Given the description of an element on the screen output the (x, y) to click on. 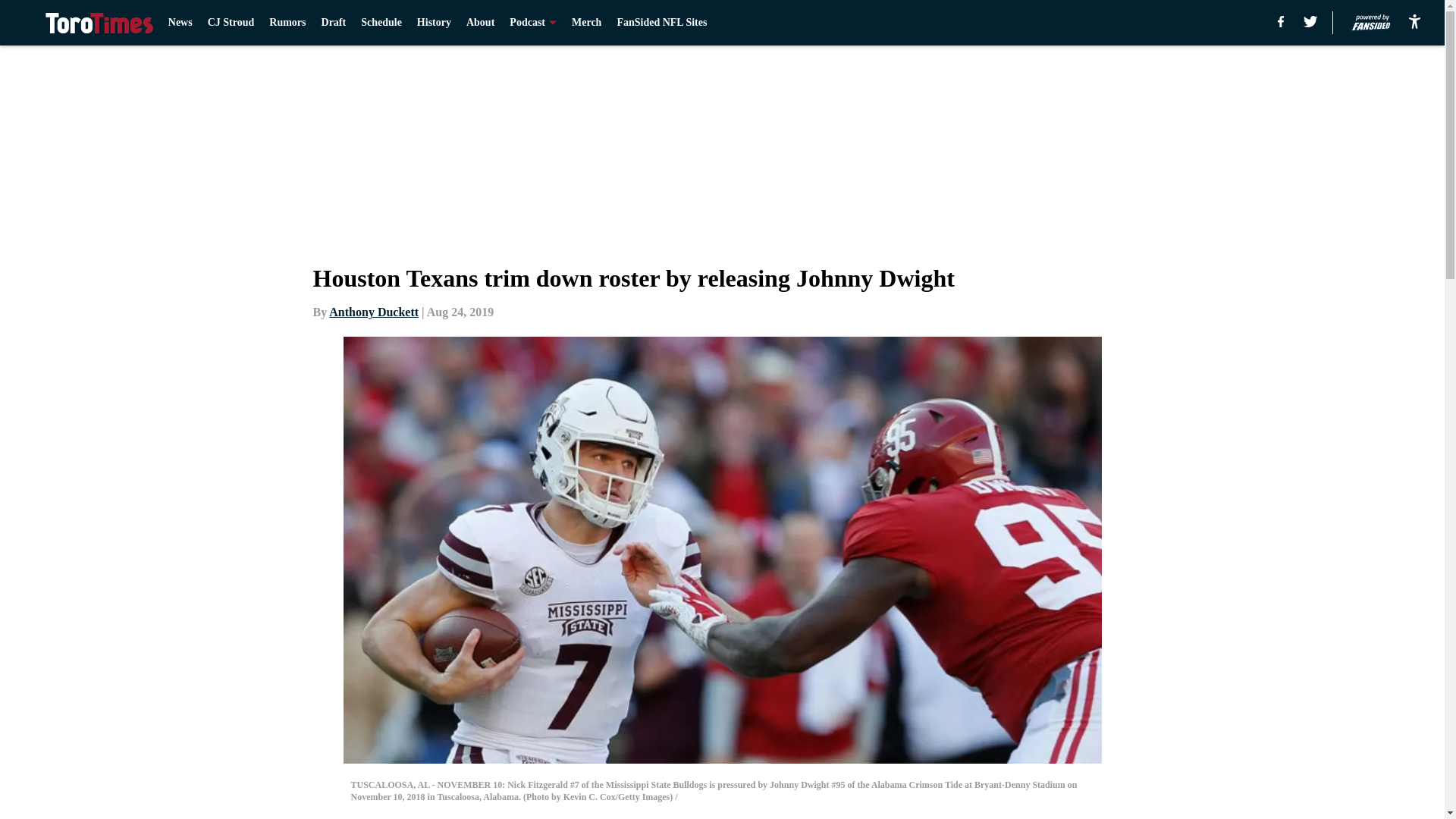
Draft (333, 22)
Merch (586, 22)
Anthony Duckett (374, 311)
FanSided NFL Sites (660, 22)
CJ Stroud (231, 22)
History (433, 22)
Rumors (287, 22)
Schedule (381, 22)
News (180, 22)
About (480, 22)
